Given the description of an element on the screen output the (x, y) to click on. 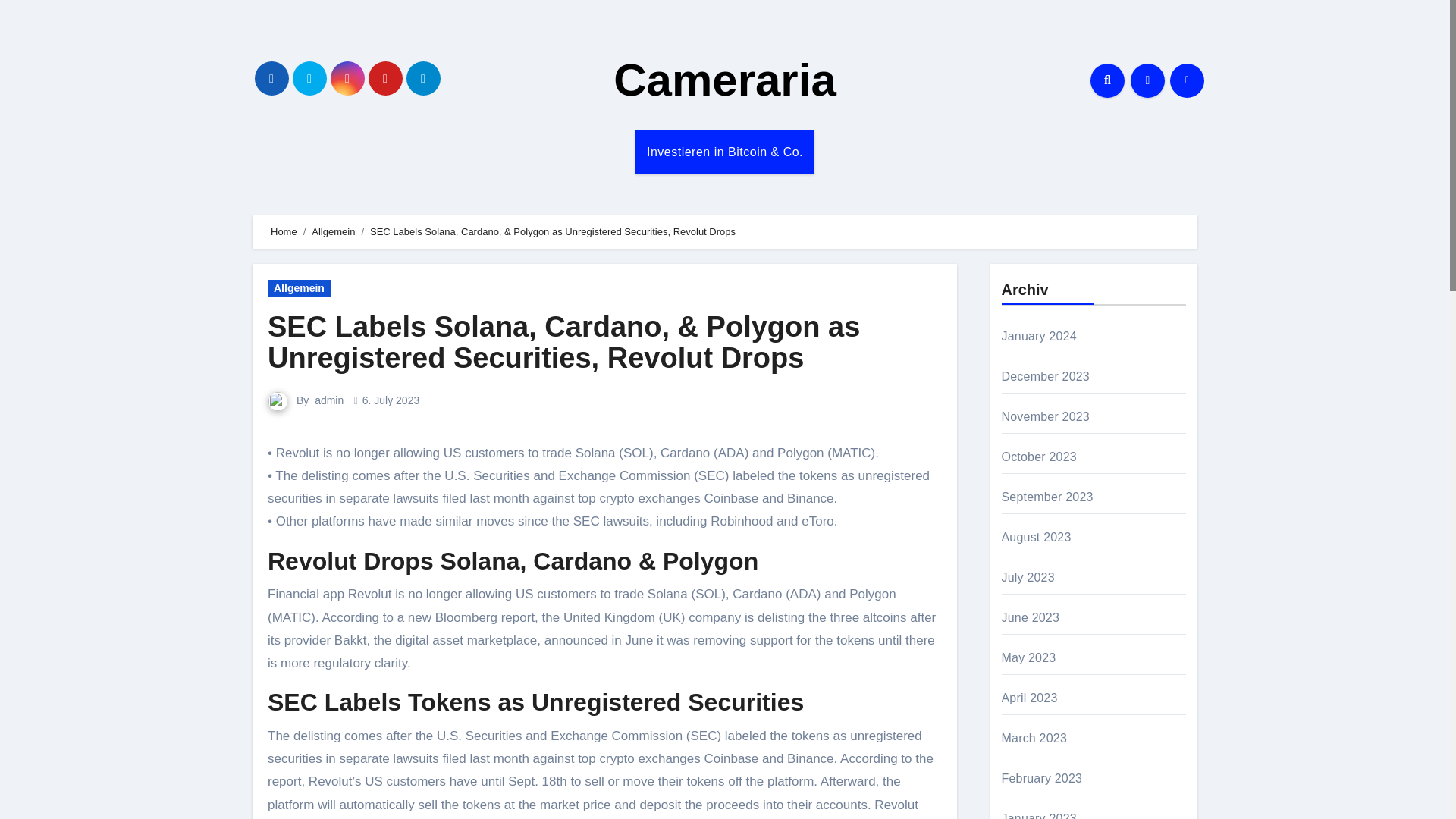
Allgemein (333, 231)
admin (328, 399)
Home (283, 231)
Cameraria (723, 79)
Allgemein (298, 288)
6. July 2023 (391, 399)
